Given the description of an element on the screen output the (x, y) to click on. 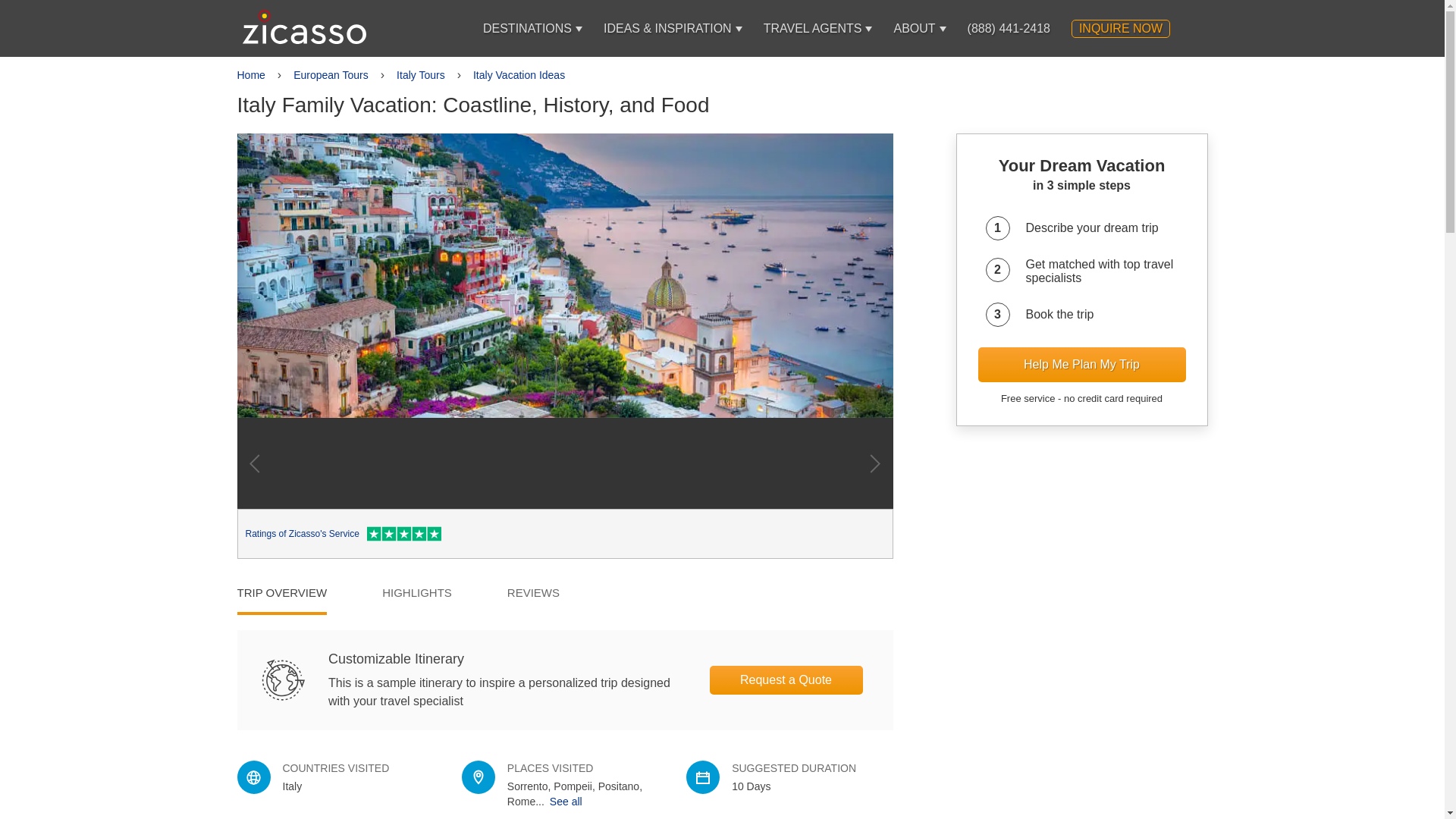
INQUIRE NOW (1120, 28)
Zicasso Logo (304, 26)
TRAVEL AGENTS (811, 28)
